Given the description of an element on the screen output the (x, y) to click on. 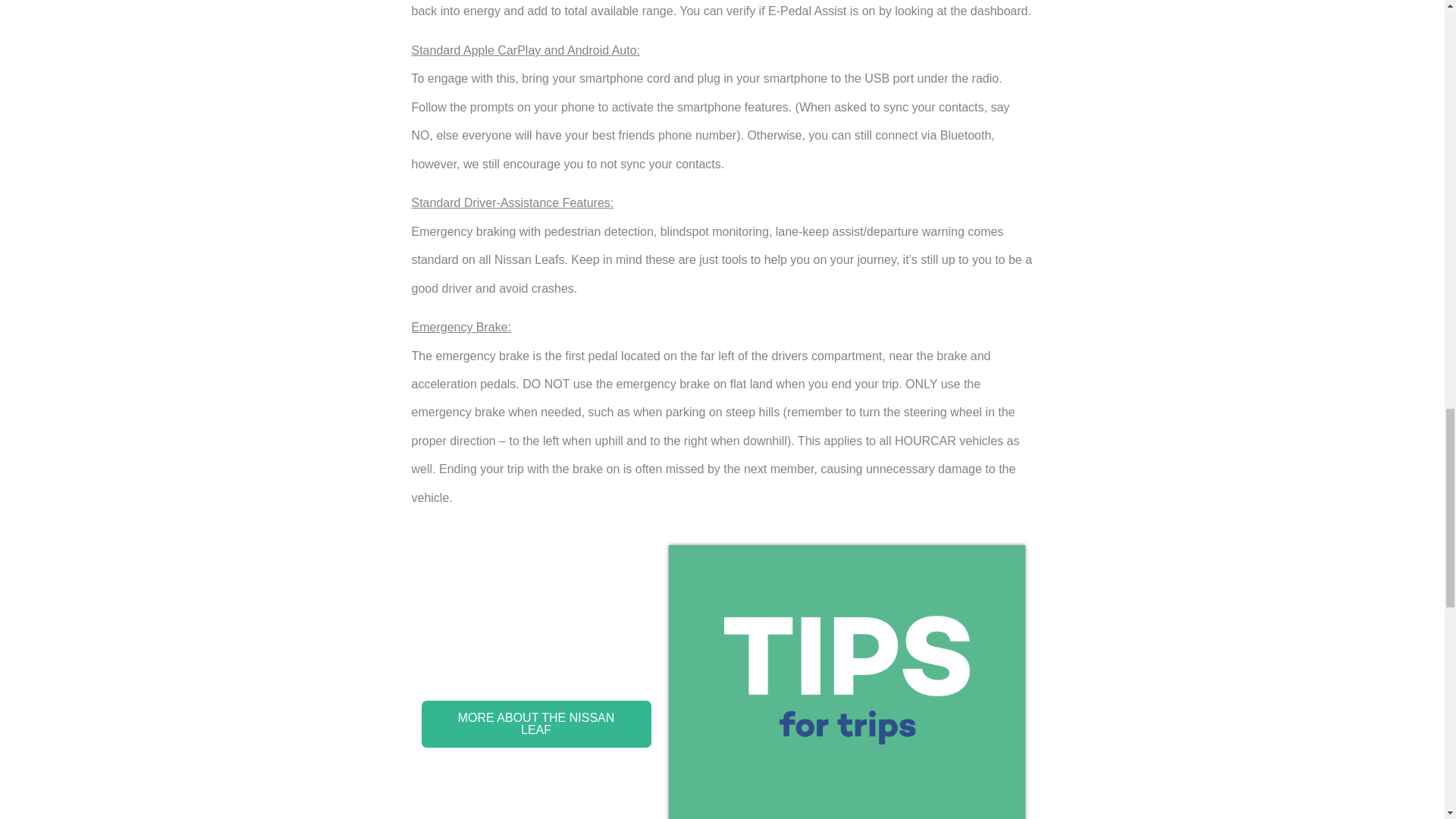
MORE ABOUT THE NISSAN LEAF (535, 724)
